Given the description of an element on the screen output the (x, y) to click on. 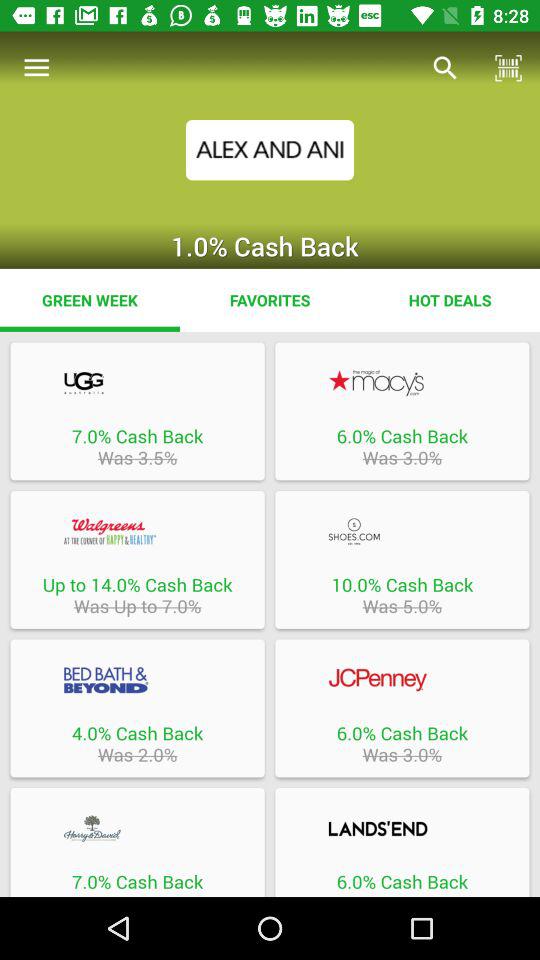
select alex and ani (269, 150)
select the third image from green week (137, 559)
select the text which is above the 60 cash back (401, 828)
select hot deals (450, 300)
click on the search icon (445, 68)
click on the ugg (137, 382)
